Given the description of an element on the screen output the (x, y) to click on. 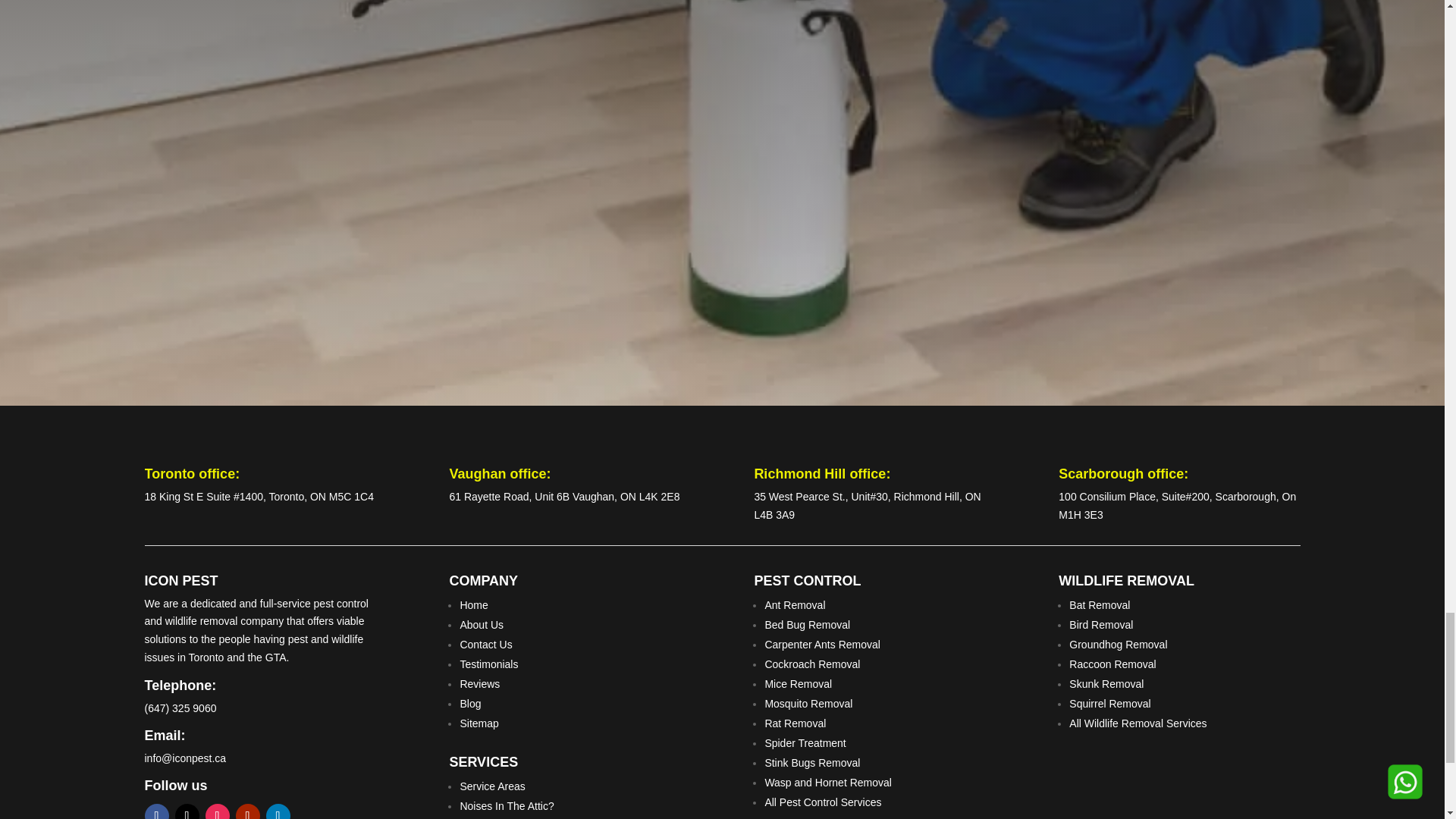
Mosquito Removal (807, 703)
Follow on Facebook (156, 811)
Follow on LinkedIn (276, 811)
Follow on Instagram (216, 811)
Follow on Youtube (246, 811)
Follow on X (186, 811)
